Given the description of an element on the screen output the (x, y) to click on. 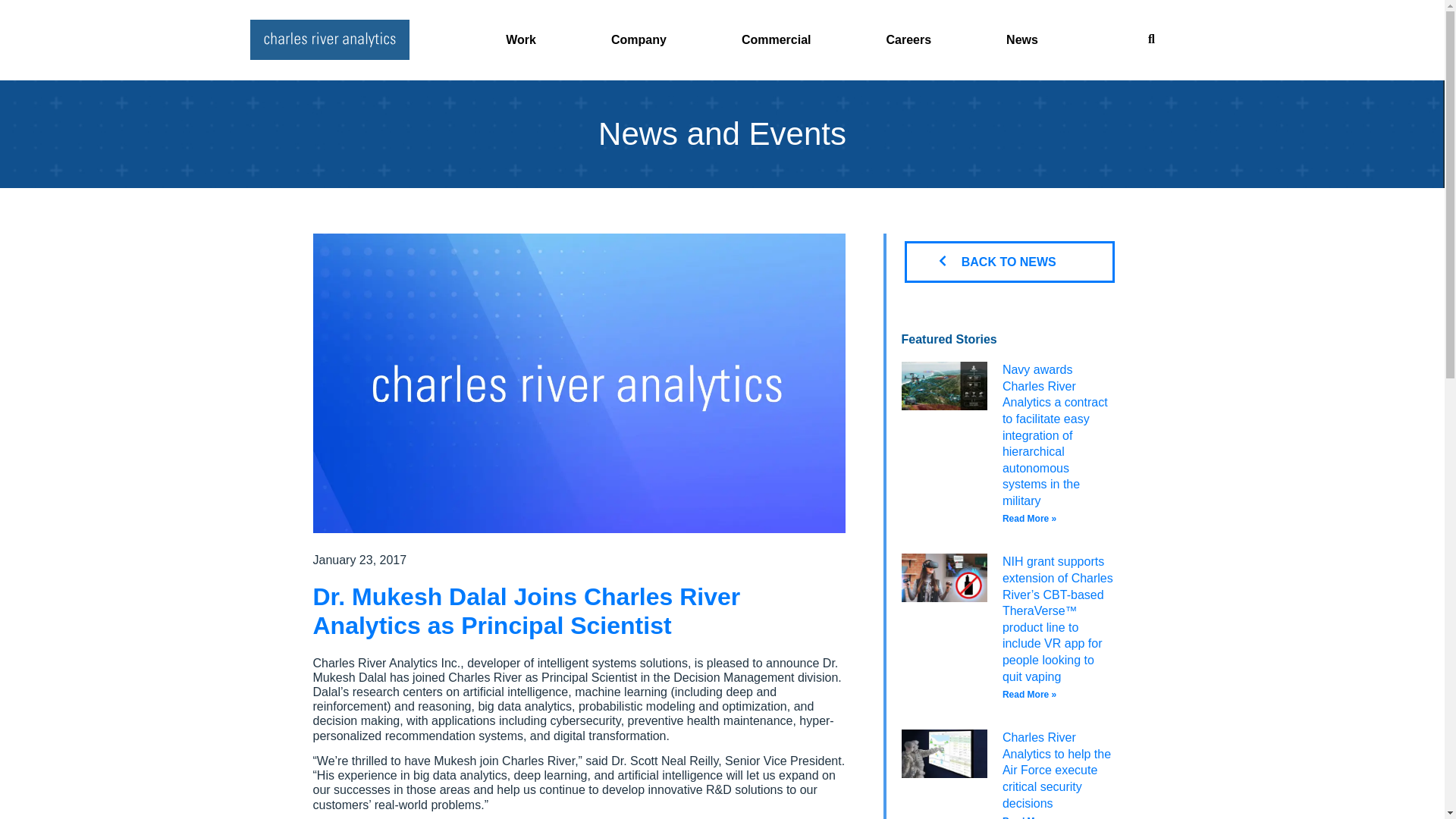
Company (640, 39)
Commercial (778, 39)
News (1024, 39)
Work (522, 39)
Careers (910, 39)
CRA-LOGO (329, 39)
